Given the description of an element on the screen output the (x, y) to click on. 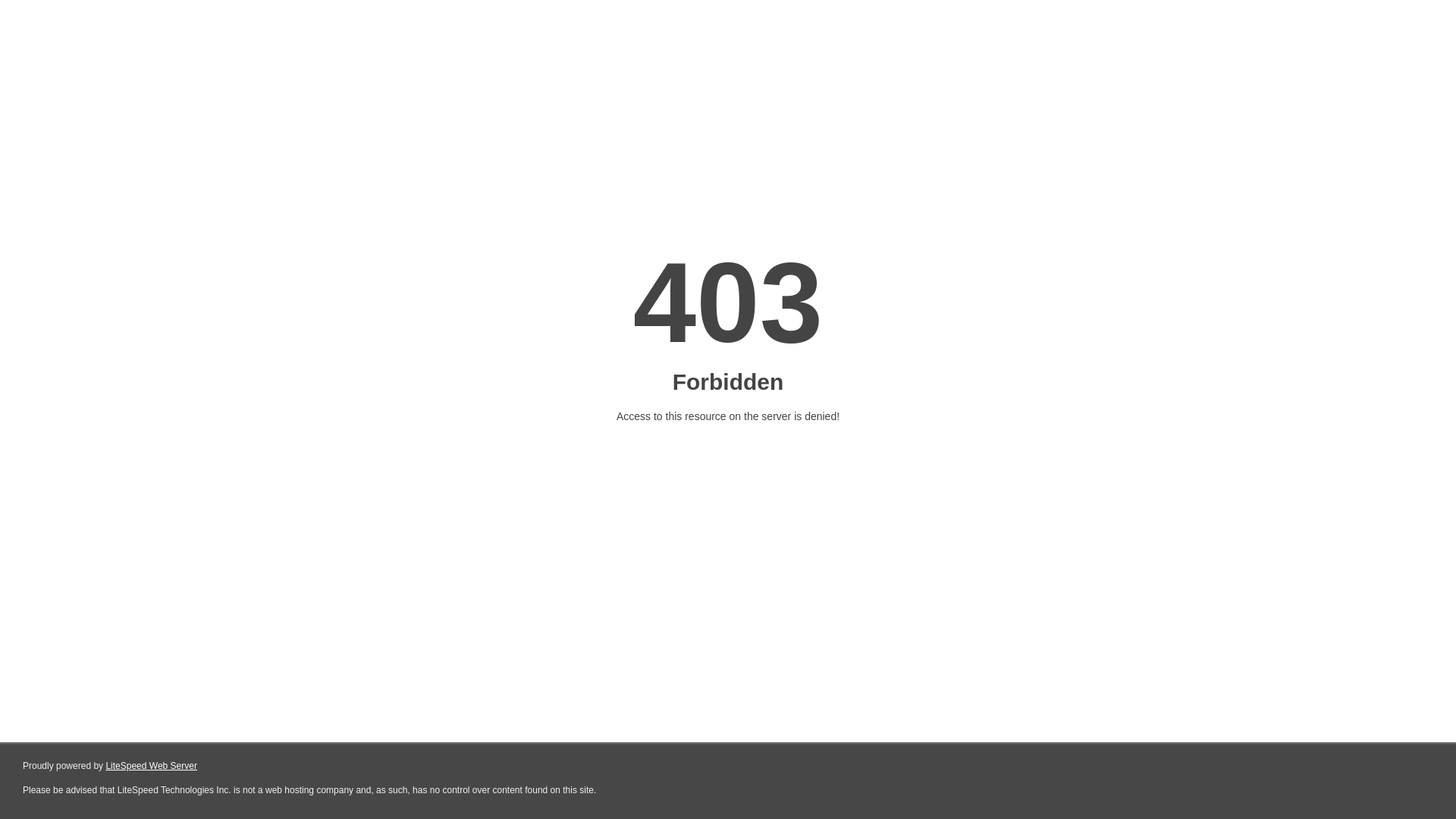
LiteSpeed Web Server Element type: text (151, 765)
